Given the description of an element on the screen output the (x, y) to click on. 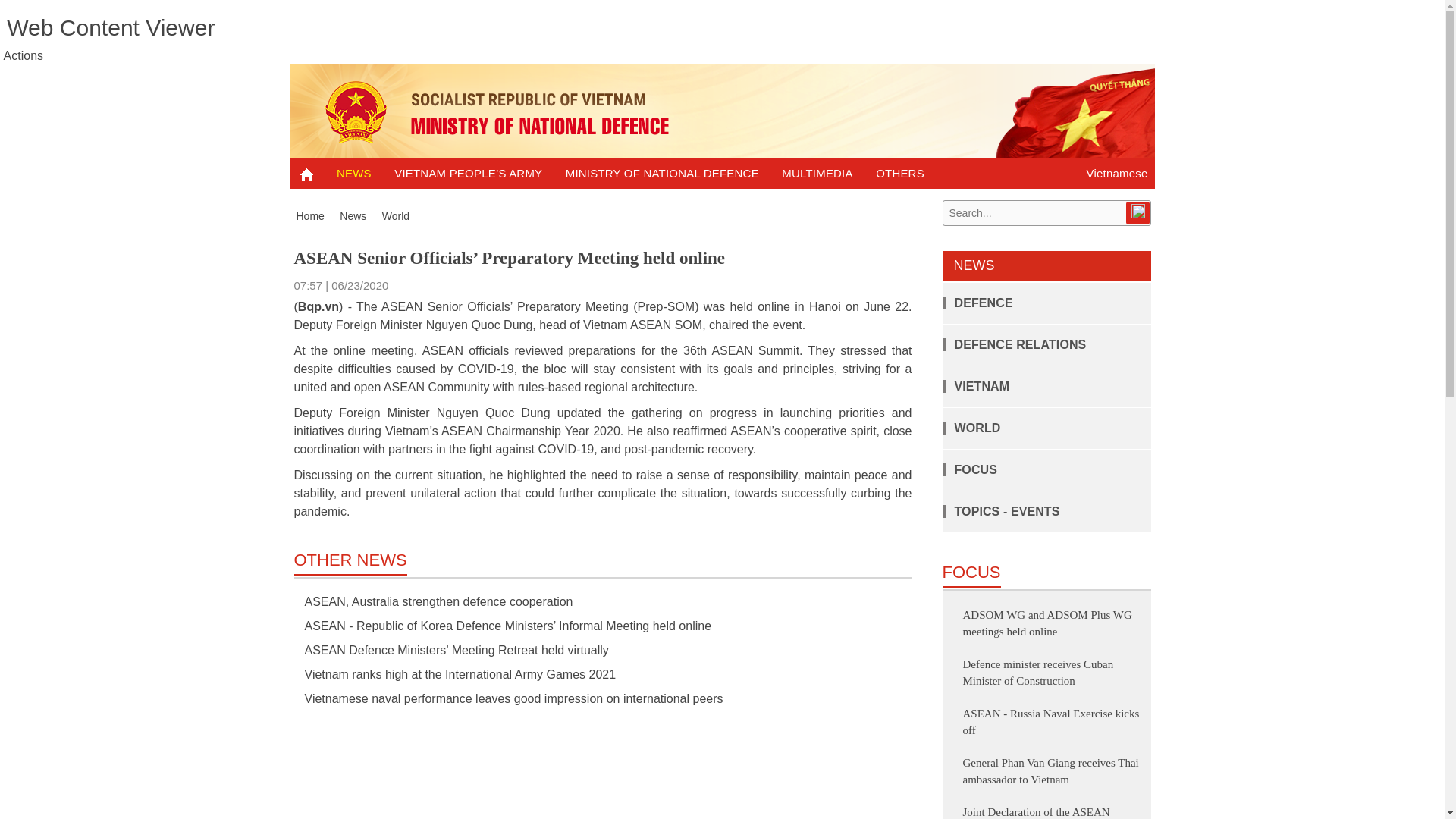
DEFENCE (976, 302)
ADSOM WG and ADSOM Plus WG meetings held online (1047, 623)
OTHERS (900, 173)
WORLD (971, 427)
World (395, 215)
Defence minister receives Cuban Minister of Construction (1037, 672)
VIETNAM (975, 386)
MULTIMEDIA (818, 173)
Vietnam ranks high at the International Army Games 2021 (454, 674)
TOPICS - EVENTS (1000, 511)
